Given the description of an element on the screen output the (x, y) to click on. 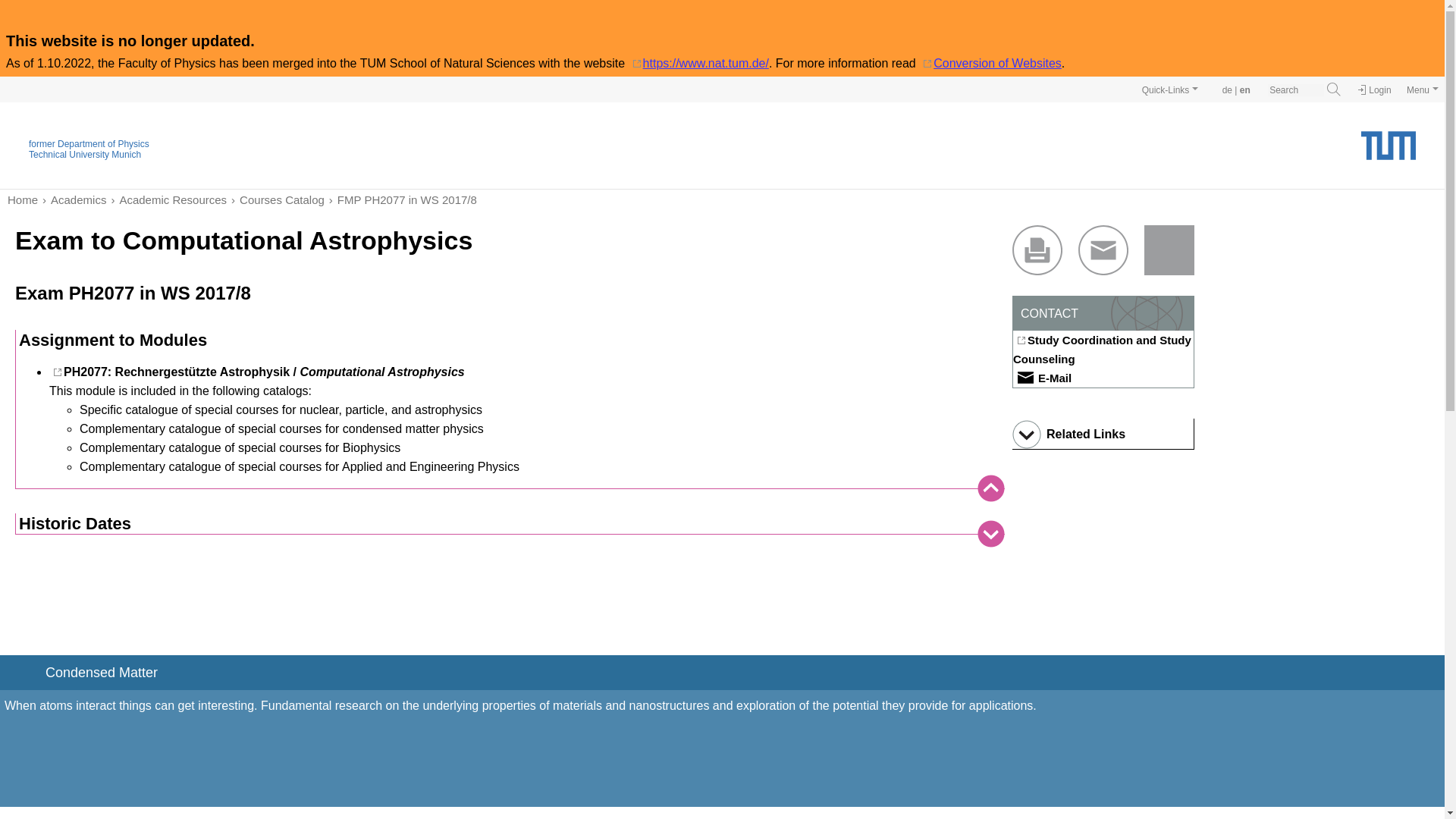
Academic Resources (166, 199)
print this page (1036, 250)
Module Catalog in Physics (275, 199)
the English language version is displayed (1245, 90)
send link to this page via e-mail (1103, 250)
share page in social networks (1168, 250)
Technical University Munich (85, 154)
CONTACT (1103, 313)
Courses Catalog (275, 199)
zur deutschen Seite wechseln (1227, 90)
Search phrase to find on these webpages (1295, 90)
E-Mail (1042, 377)
Search on these webpages (1333, 89)
Study Coordination and Study Counseling (1103, 349)
Related Links (1102, 434)
